Given the description of an element on the screen output the (x, y) to click on. 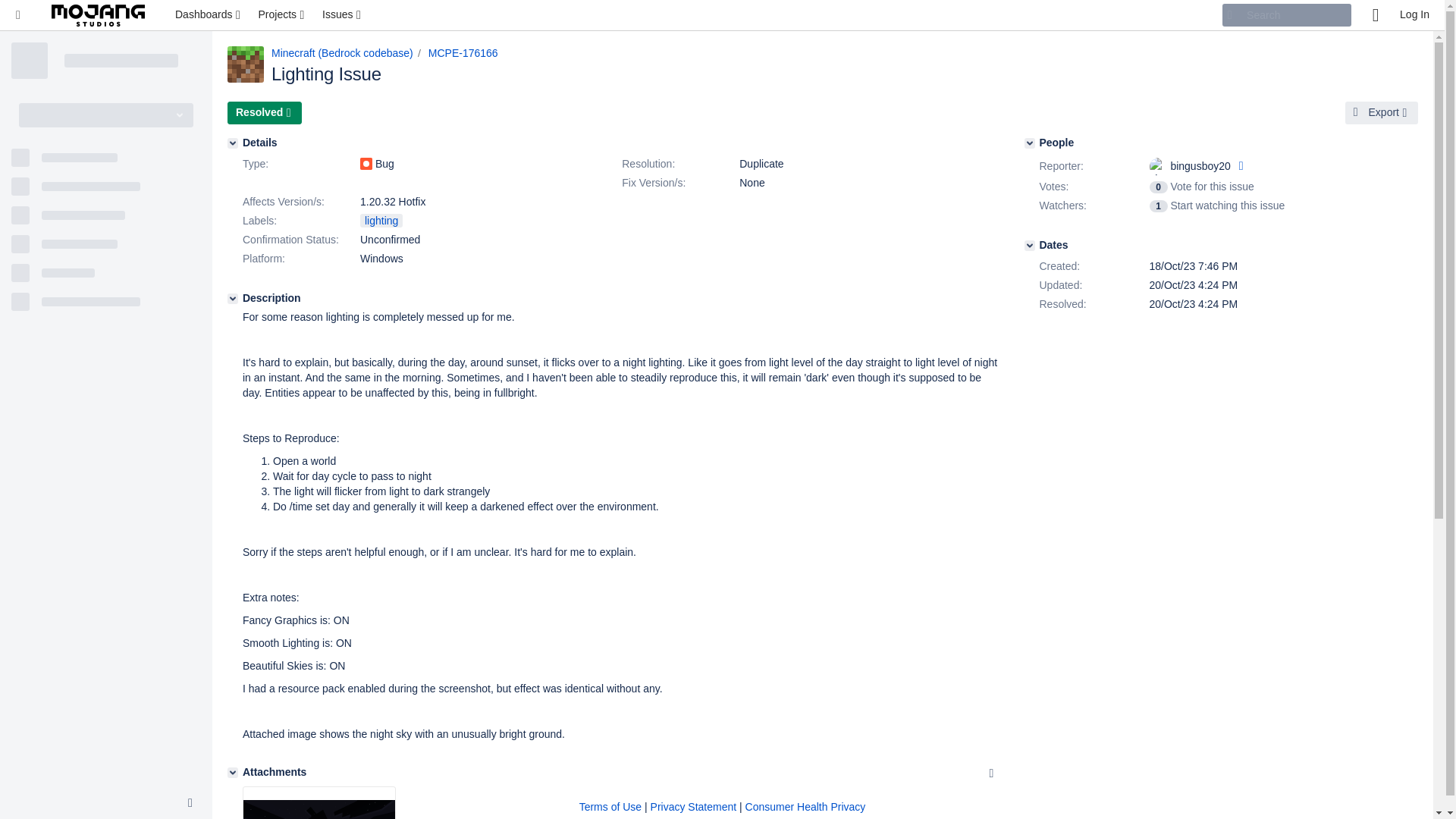
Privacy Statement (693, 806)
Terms of Use (610, 806)
Projects (282, 15)
lighting (381, 220)
Labels (299, 221)
Log In (1414, 15)
Resolved (264, 112)
Help (1374, 15)
MCPE-176166 (462, 52)
